Given the description of an element on the screen output the (x, y) to click on. 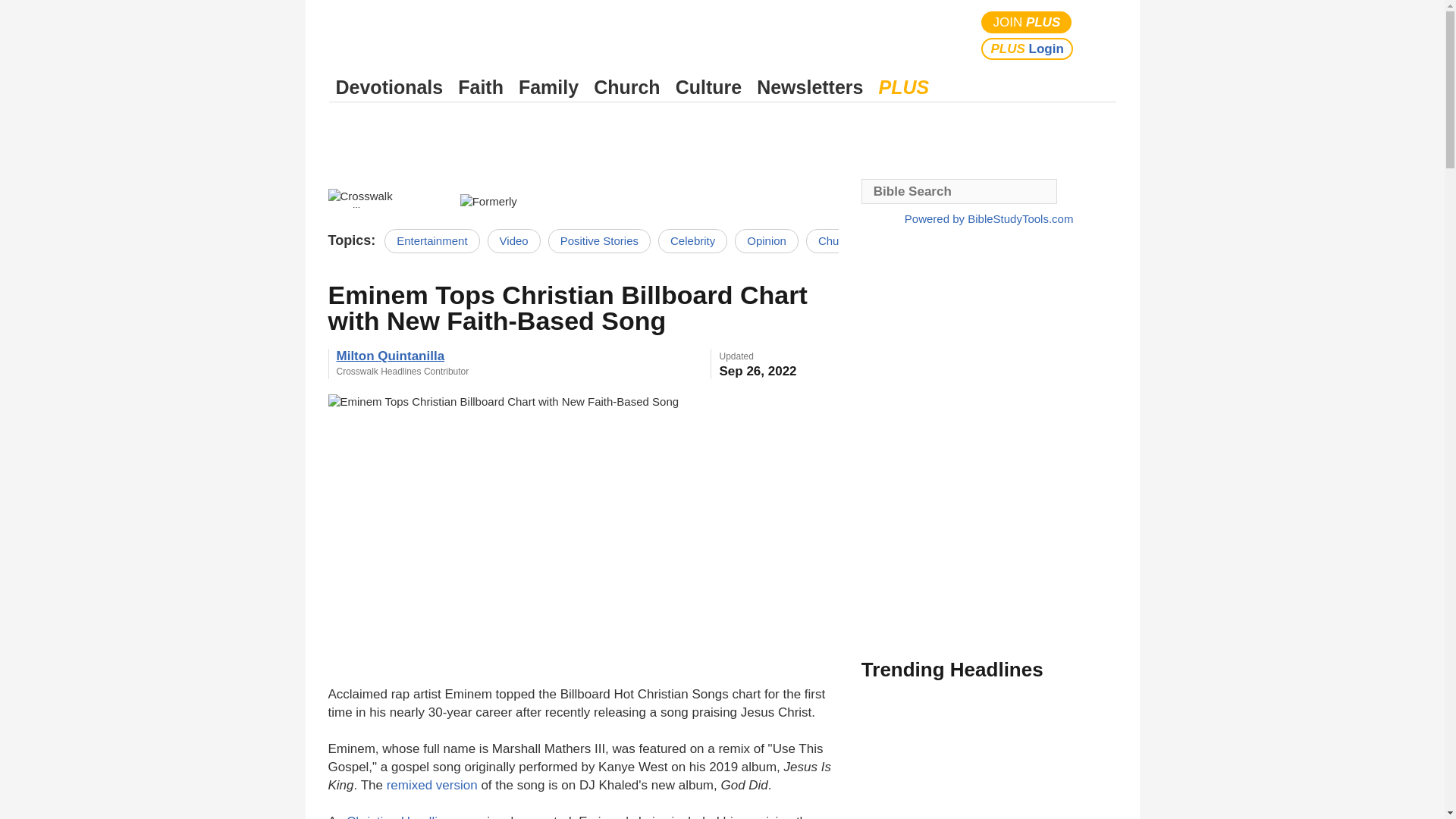
Family (548, 87)
Faith (481, 87)
Join Plus (1026, 22)
PLUS Login (1026, 48)
Devotionals (389, 87)
JOIN PLUS (1026, 22)
Plus Login (1026, 48)
Search (1101, 34)
Crosswalk Headlines (385, 196)
